Given the description of an element on the screen output the (x, y) to click on. 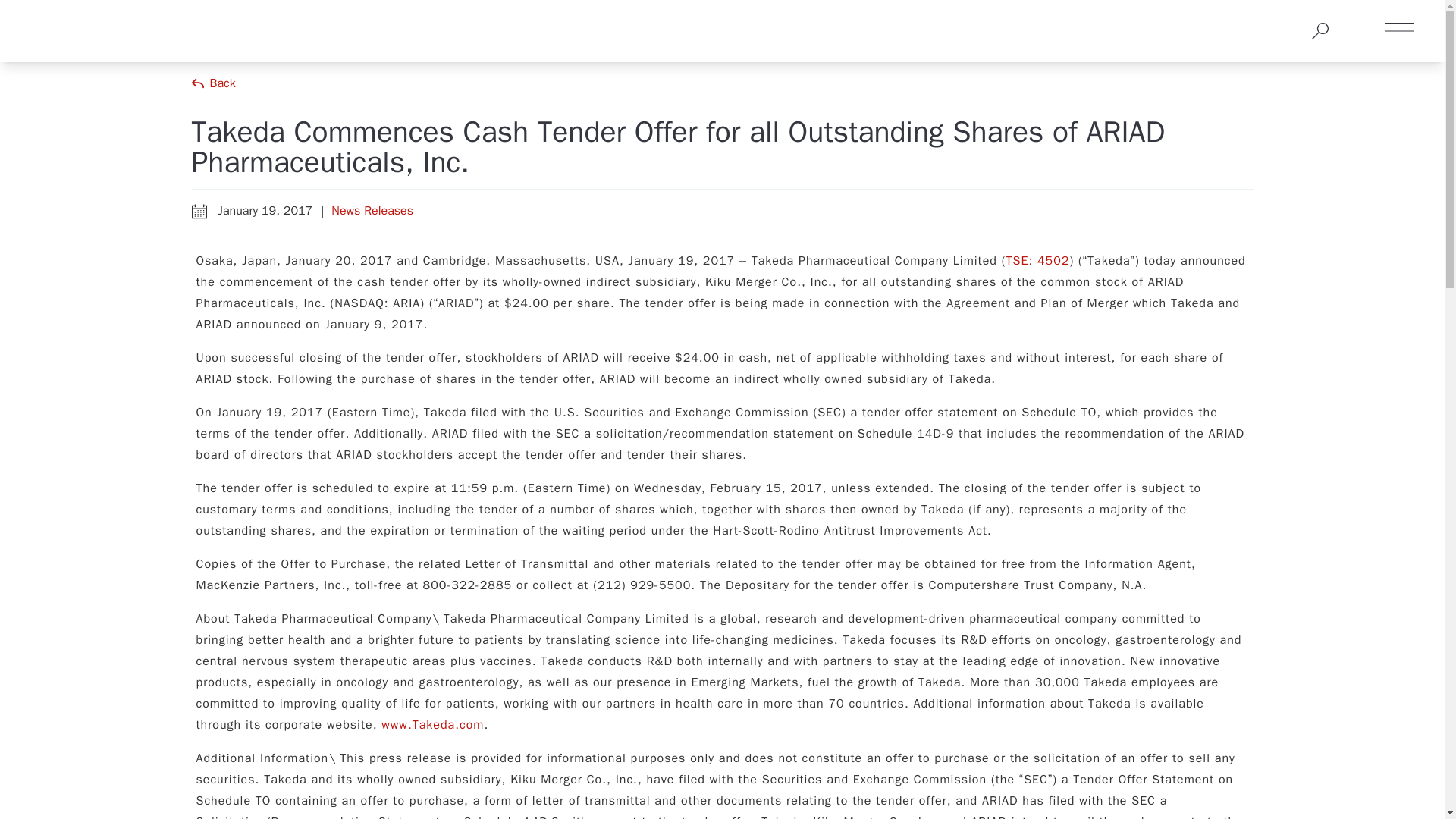
Calendar (198, 211)
Back (212, 83)
TSE: 4502 (1038, 260)
www.Takeda.com (432, 724)
